Given the description of an element on the screen output the (x, y) to click on. 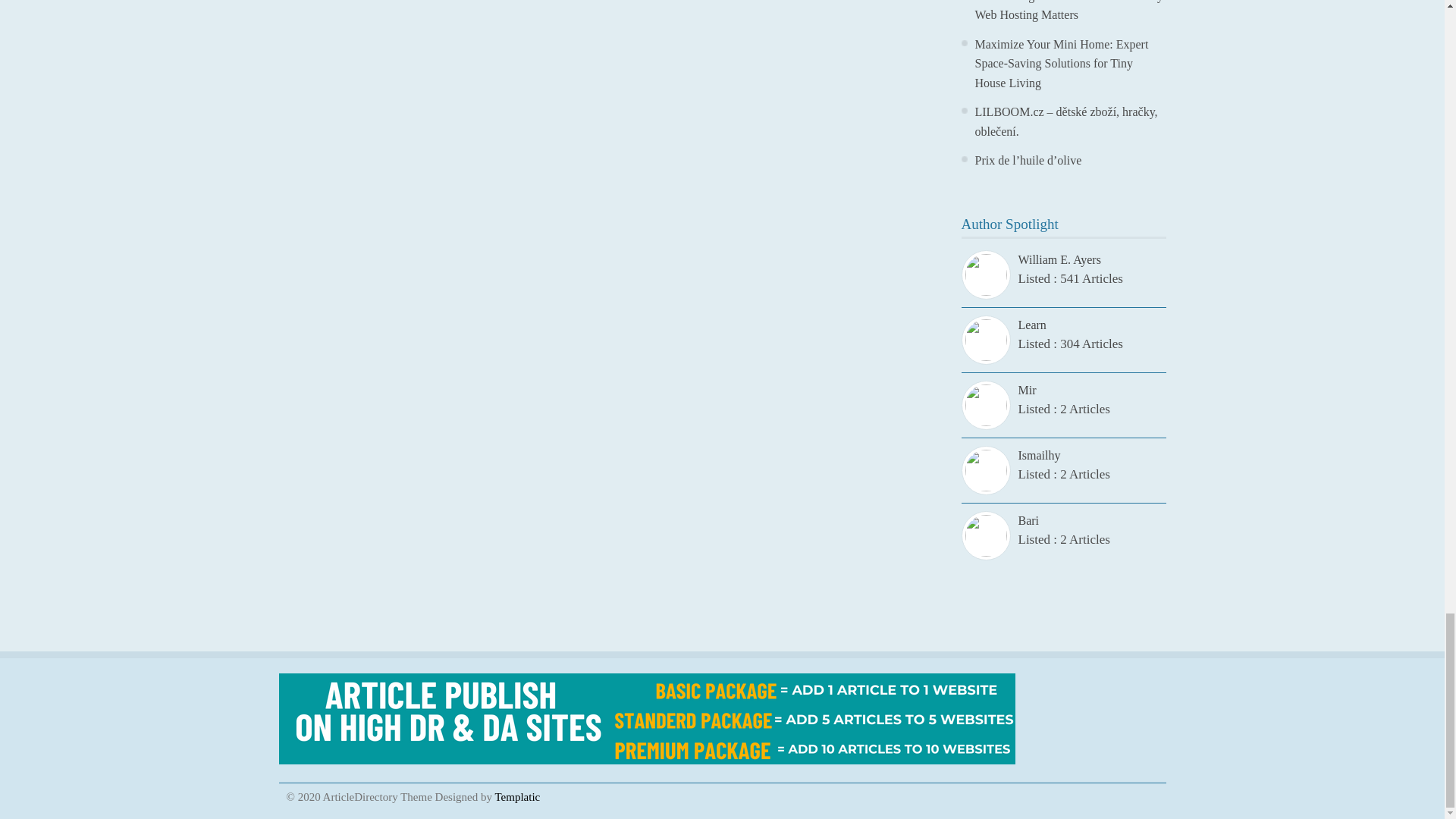
The Unsung Hero of the Internet: Why Web Hosting Matters (1069, 10)
